Given the description of an element on the screen output the (x, y) to click on. 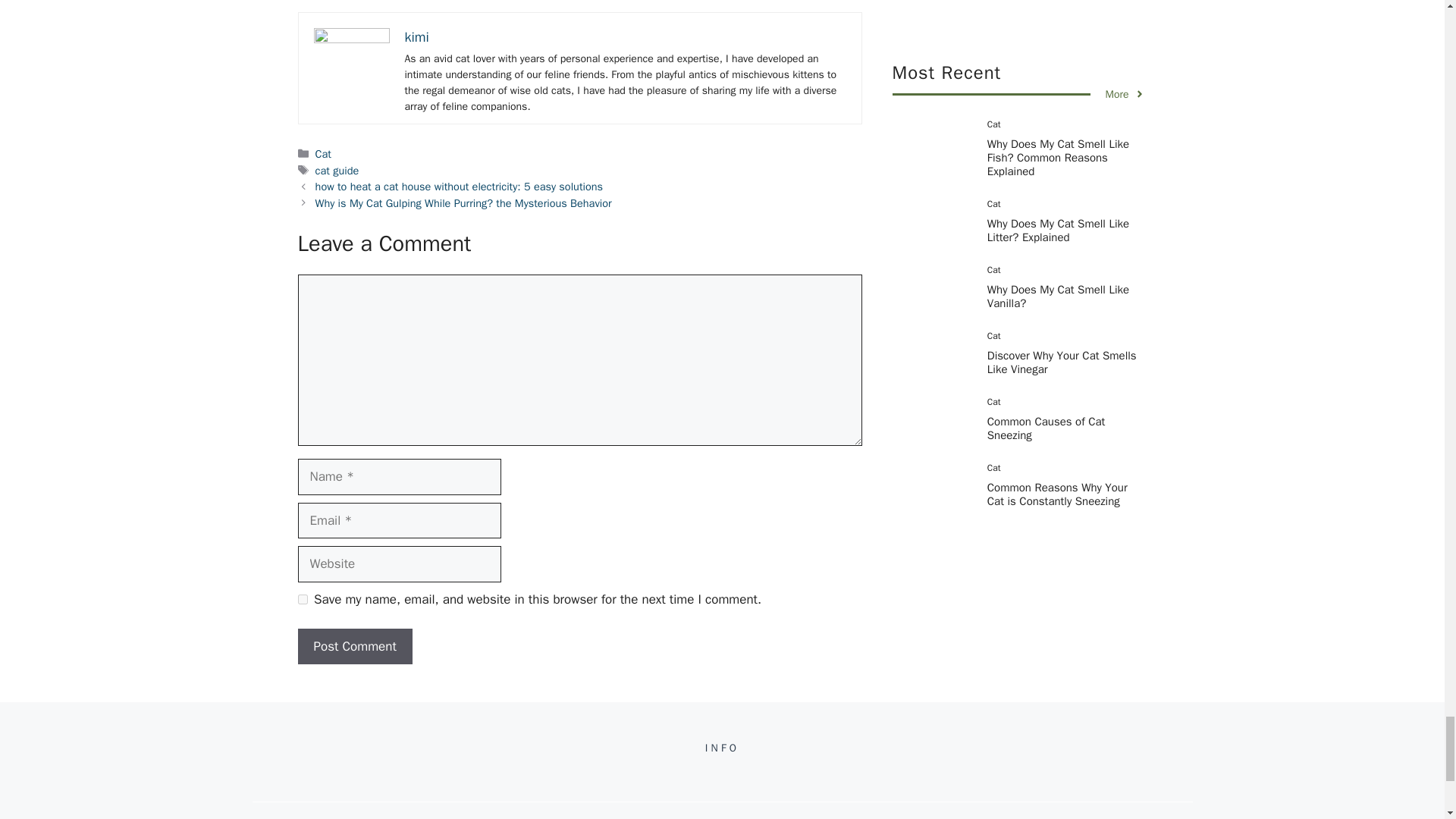
Post Comment (354, 646)
cat guide (337, 170)
Post Comment (354, 646)
yes (302, 599)
kimi (416, 36)
Cat (323, 153)
Why is My Cat Gulping While Purring? the Mysterious Behavior (463, 202)
